Given the description of an element on the screen output the (x, y) to click on. 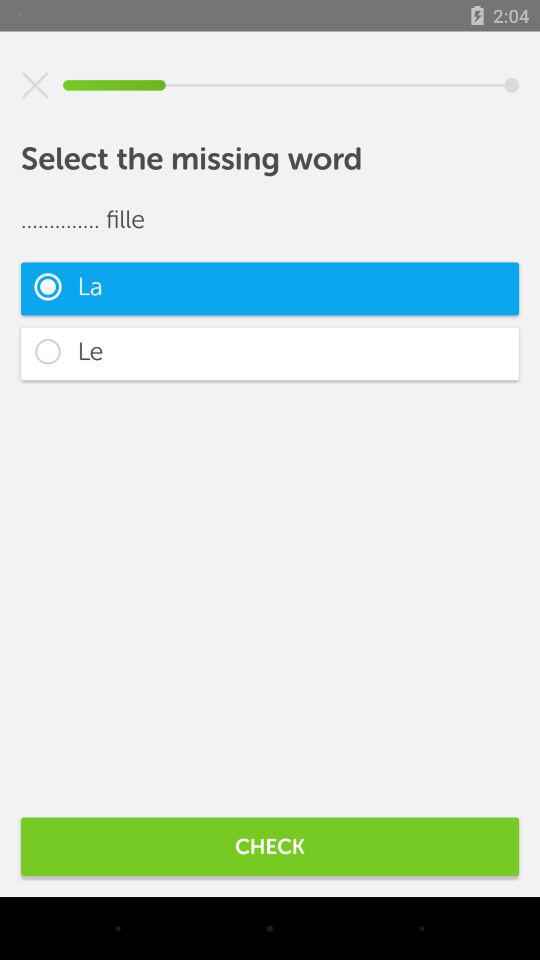
scroll to the la icon (270, 288)
